Given the description of an element on the screen output the (x, y) to click on. 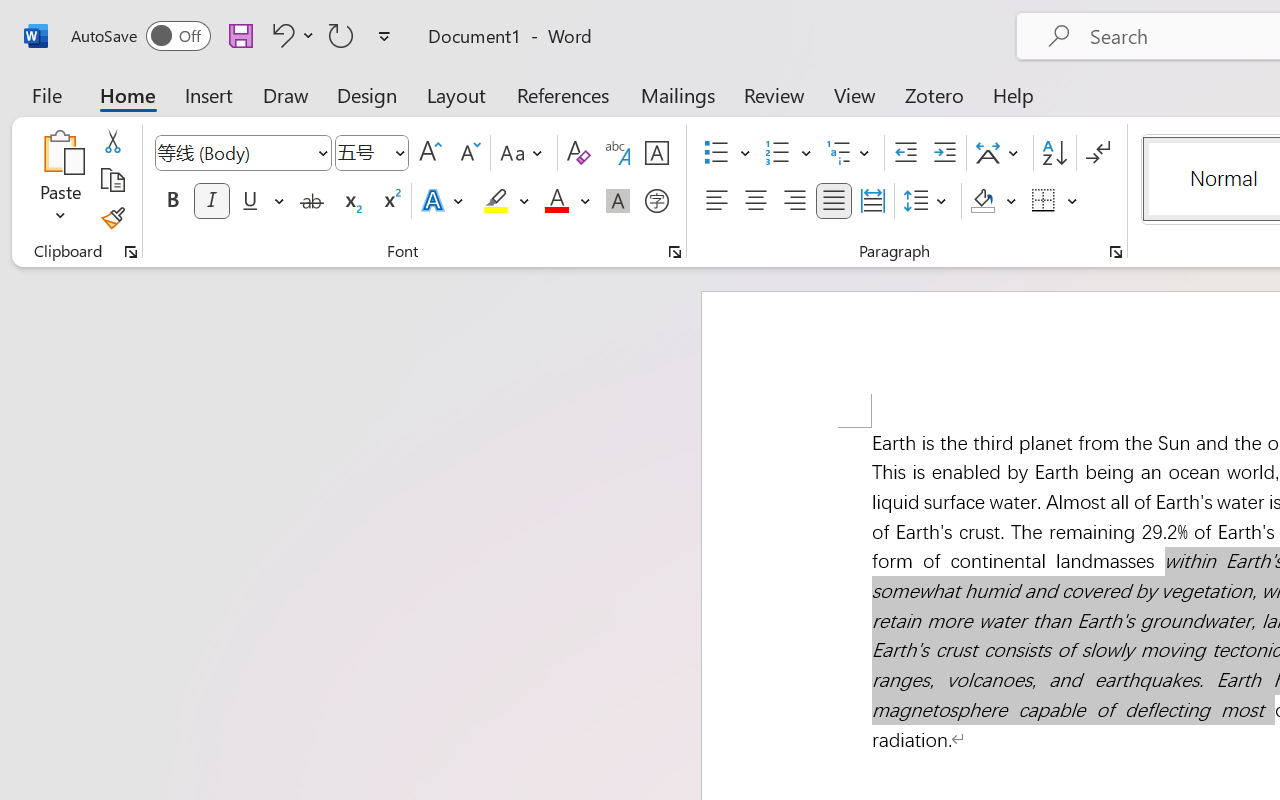
Font Color Red (556, 201)
Align Left (716, 201)
Enclose Characters... (656, 201)
Format Painter (112, 218)
Superscript (390, 201)
Clear Formatting (578, 153)
Strikethrough (312, 201)
